Given the description of an element on the screen output the (x, y) to click on. 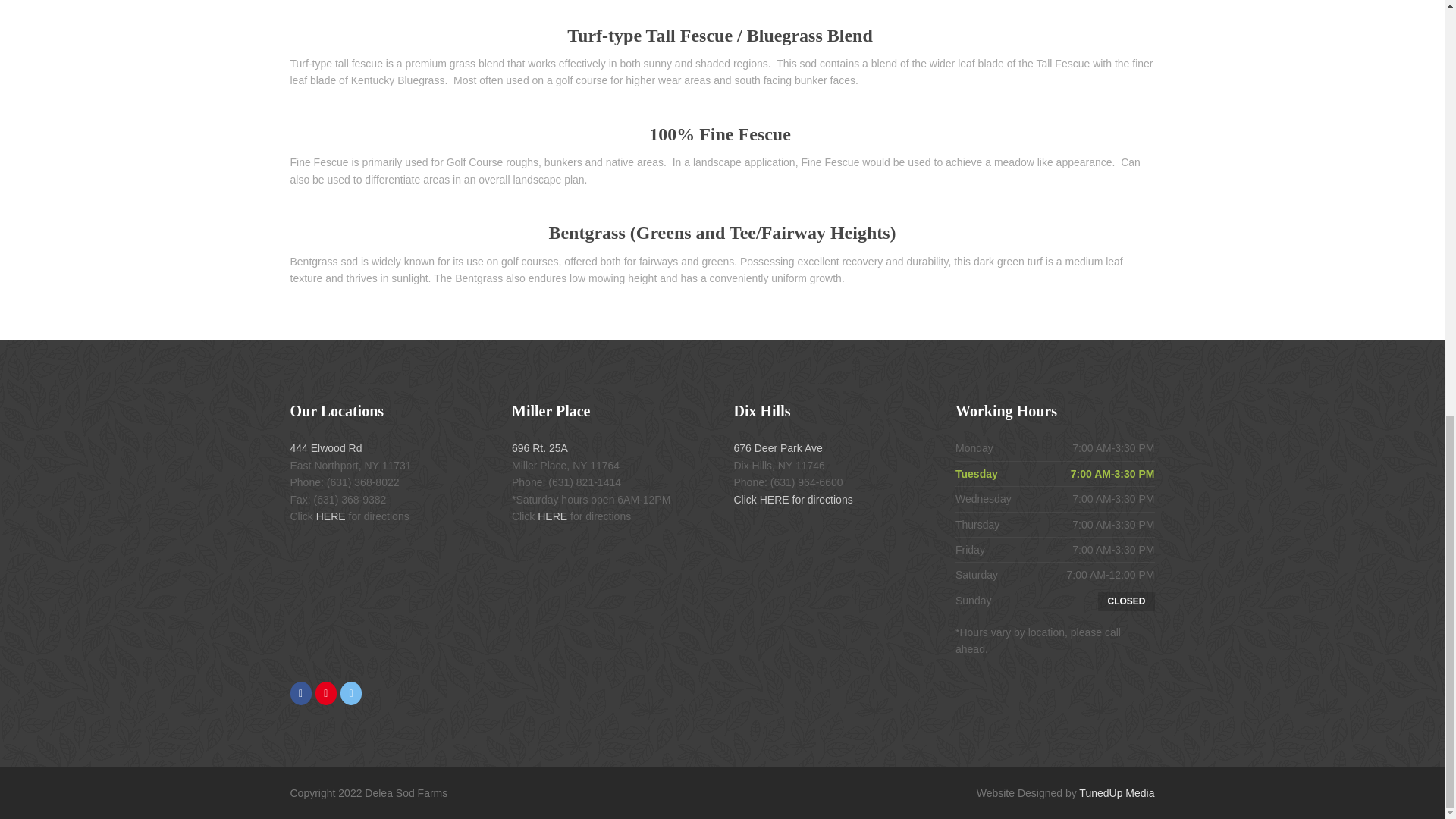
HERE (330, 516)
HERE (774, 499)
696 Rt. 25A (539, 448)
Delea Sod Farms on Facebook (300, 693)
Delea Sod Farms on X Twitter (350, 693)
676 Deer Park Ave (777, 448)
444 Elwood Rd (325, 448)
HERE (552, 516)
Delea Sod Farms on Instagram (325, 693)
